Given the description of an element on the screen output the (x, y) to click on. 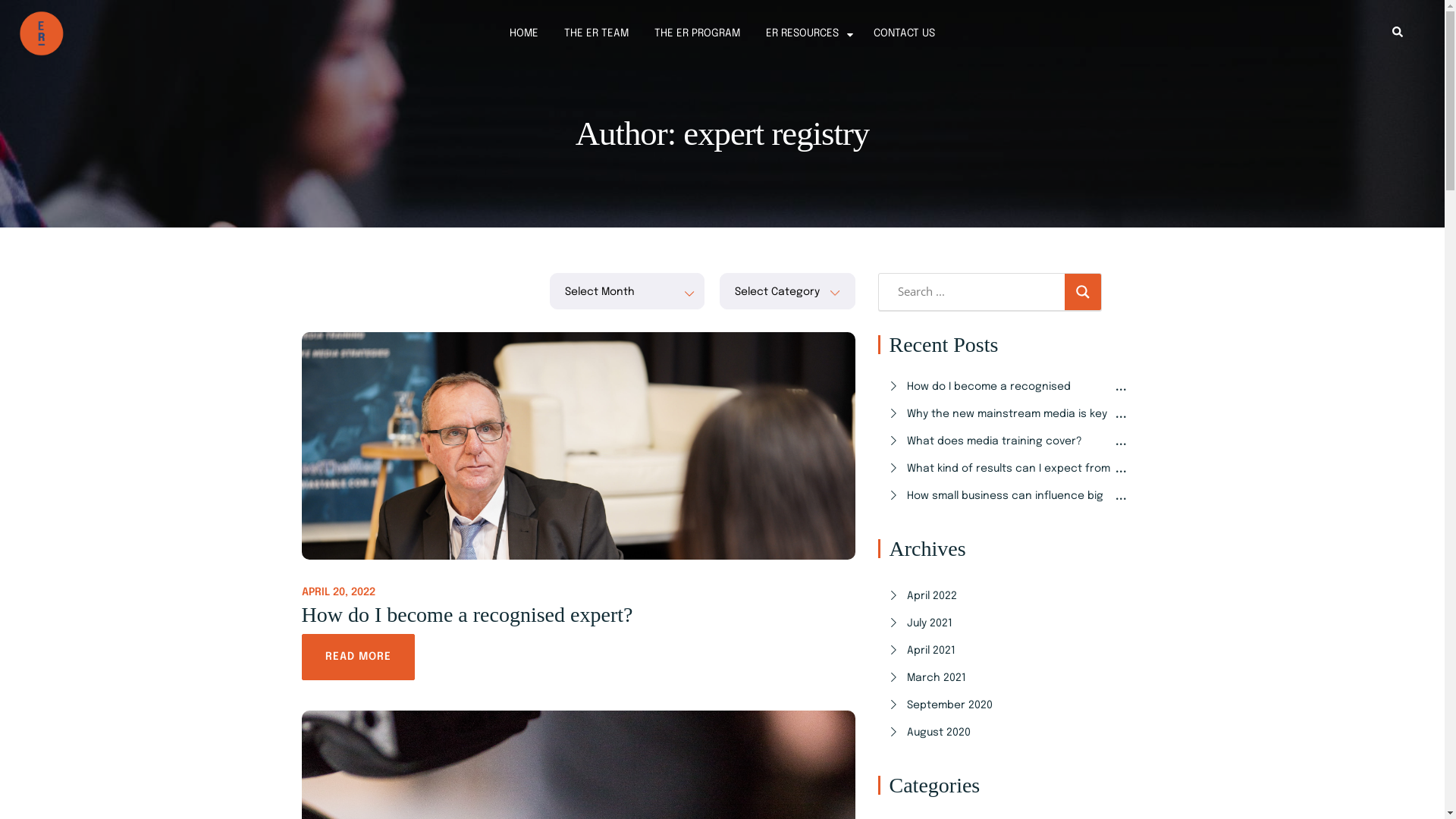
THE ER PROGRAM Element type: text (697, 32)
READ MORE Element type: text (357, 656)
Why the new mainstream media is key to brand engagement Element type: text (1008, 428)
HOME Element type: text (523, 32)
September 2020 Element type: text (1008, 705)
CONTACT US Element type: text (904, 32)
What does media training cover? Element type: text (1008, 441)
THE ER TEAM Element type: text (595, 32)
How do I become a recognised expert? Element type: text (1008, 401)
July 2021 Element type: text (1008, 623)
ER RESOURCES Element type: text (802, 32)
August 2020 Element type: text (1008, 732)
How small business can influence big media Element type: text (1008, 510)
Start search Element type: text (945, 319)
March 2021 Element type: text (1008, 677)
April 2021 Element type: text (1008, 650)
April 2022 Element type: text (1008, 595)
What kind of results can I expect from being in the media? Element type: text (1008, 483)
